Given the description of an element on the screen output the (x, y) to click on. 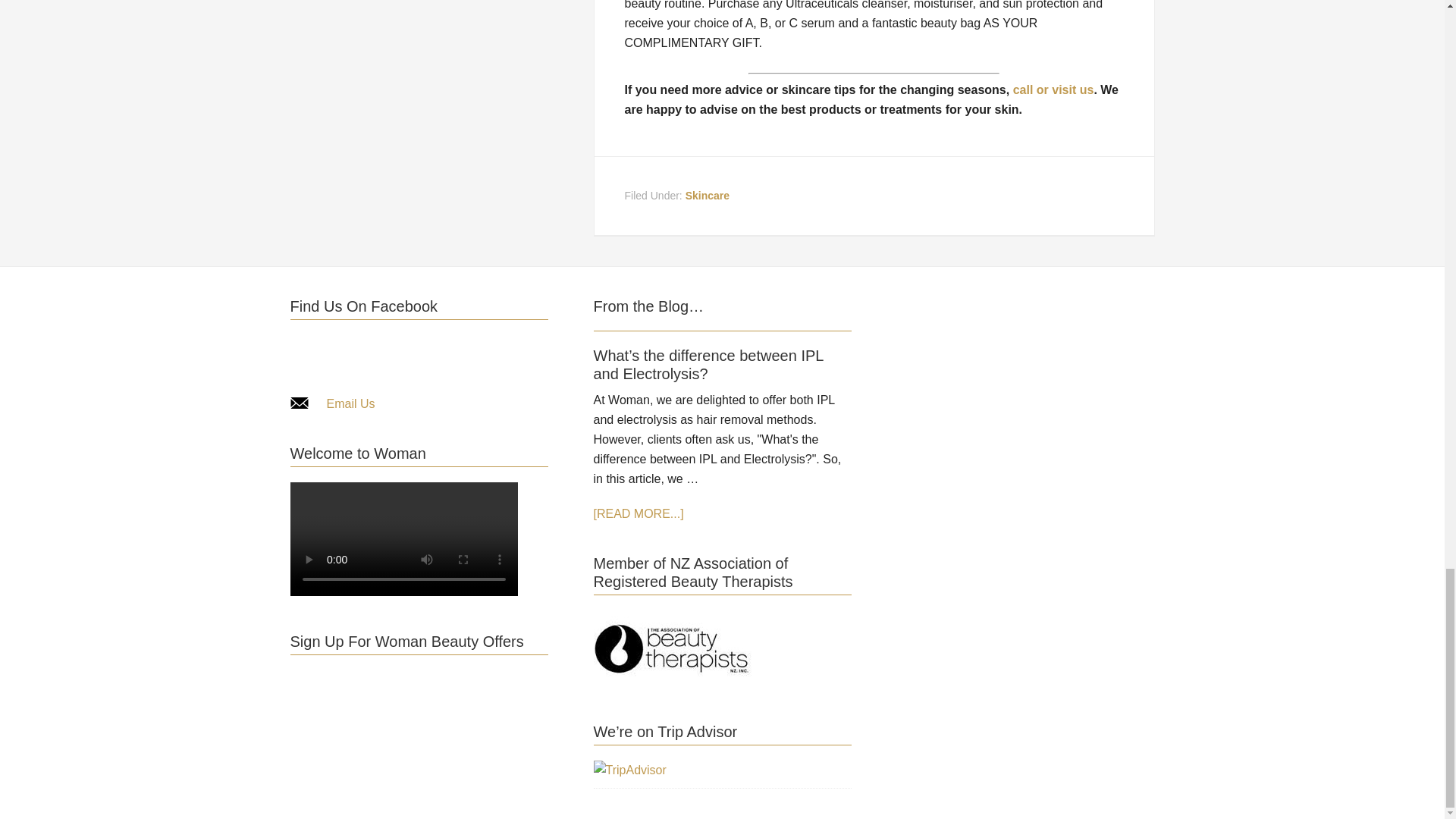
Skincare (707, 195)
Email Us (350, 403)
call or visit us (1053, 89)
